Given the description of an element on the screen output the (x, y) to click on. 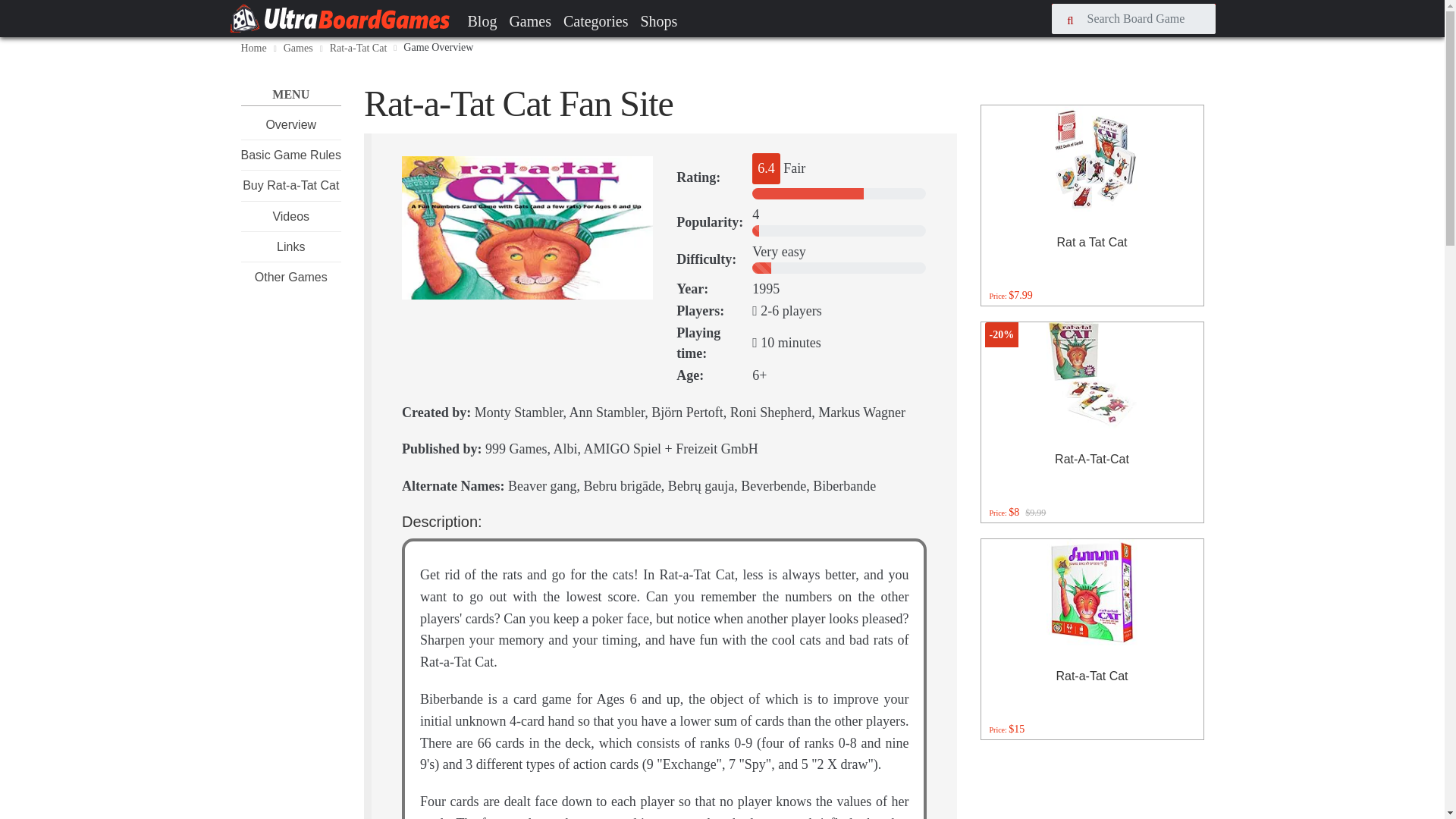
Games (529, 20)
Other Games (290, 277)
Games (298, 48)
Videos (290, 215)
Home (253, 48)
Buy Rat-a-Tat Cat (291, 185)
Basic Game Rules (291, 154)
Shops (657, 20)
Links (290, 246)
Blog (481, 20)
